Given the description of an element on the screen output the (x, y) to click on. 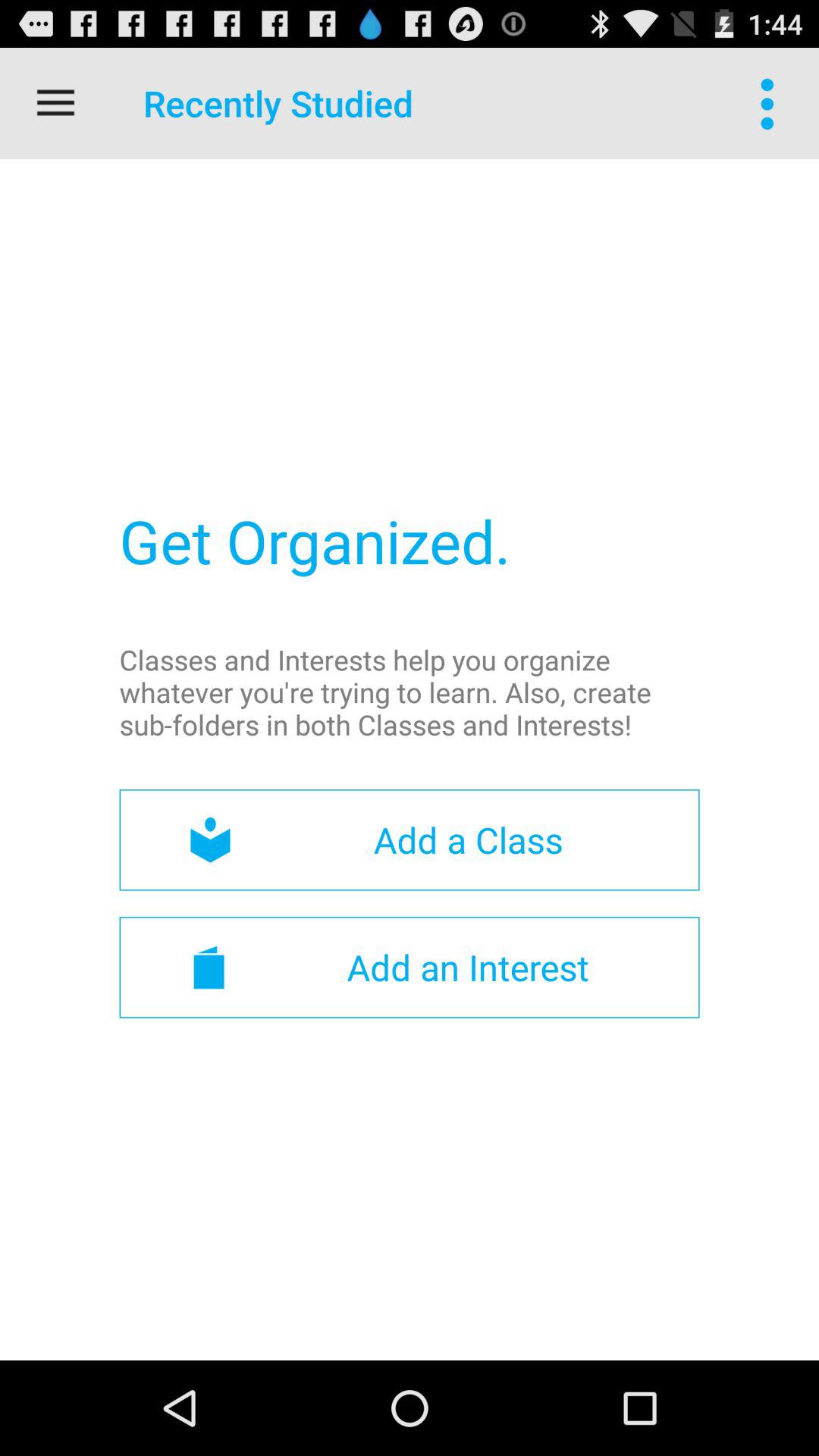
turn on the icon to the left of recently studied icon (55, 103)
